Given the description of an element on the screen output the (x, y) to click on. 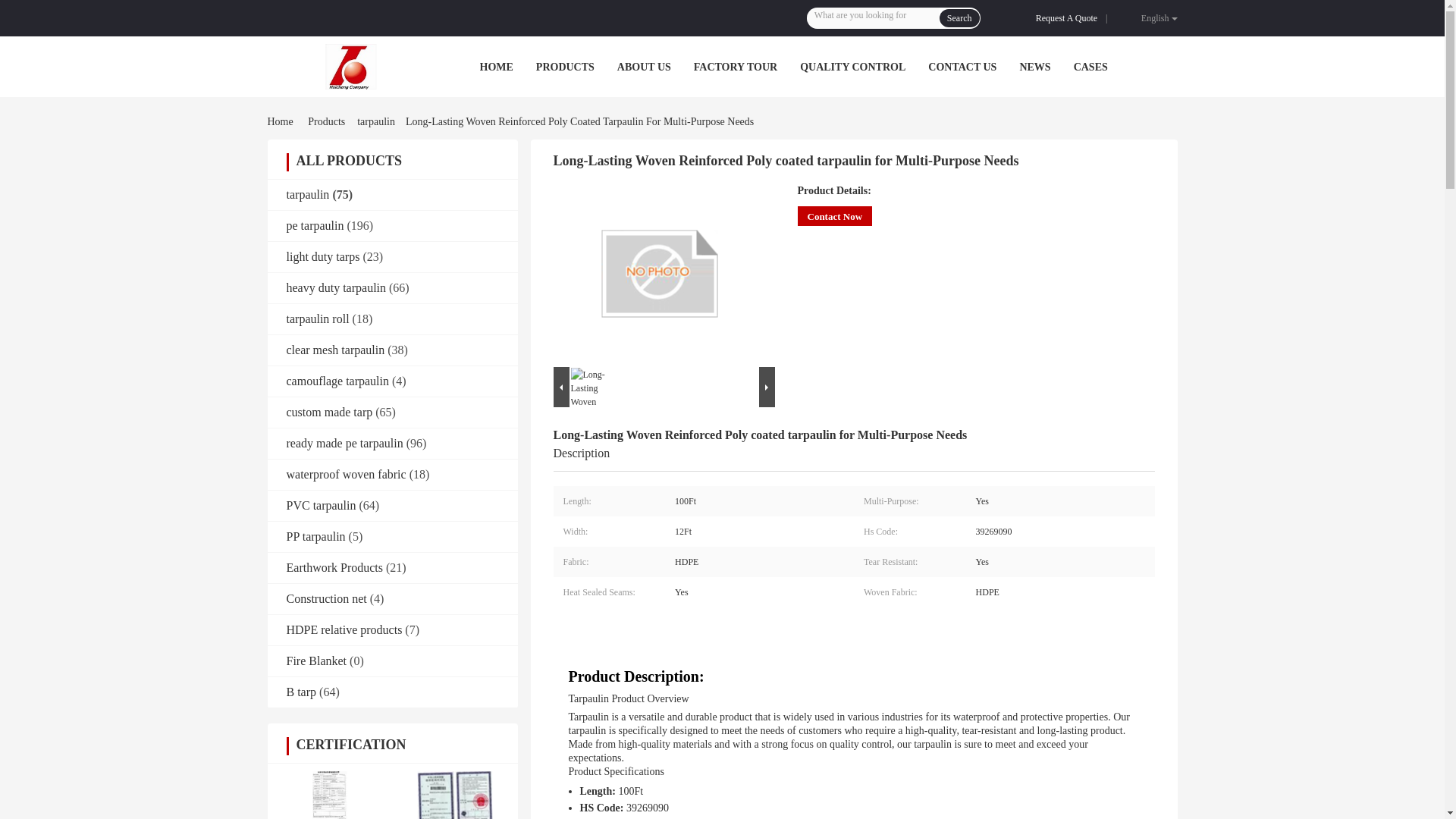
Search (959, 18)
PRODUCTS (564, 66)
Shandong Haicheng New Materials Co,.Ltd (349, 66)
Fire Blanket (316, 660)
clear mesh tarpaulin (335, 349)
Construction net (326, 598)
tarpaulin (375, 121)
light duty tarps (322, 256)
clear mesh tarpaulin (335, 349)
QUALITY CONTROL (852, 66)
pe tarpaulin (314, 225)
ready made pe tarpaulin (344, 442)
PVC tarpaulin (321, 504)
tarpaulin roll (317, 318)
light duty tarps (322, 256)
